Given the description of an element on the screen output the (x, y) to click on. 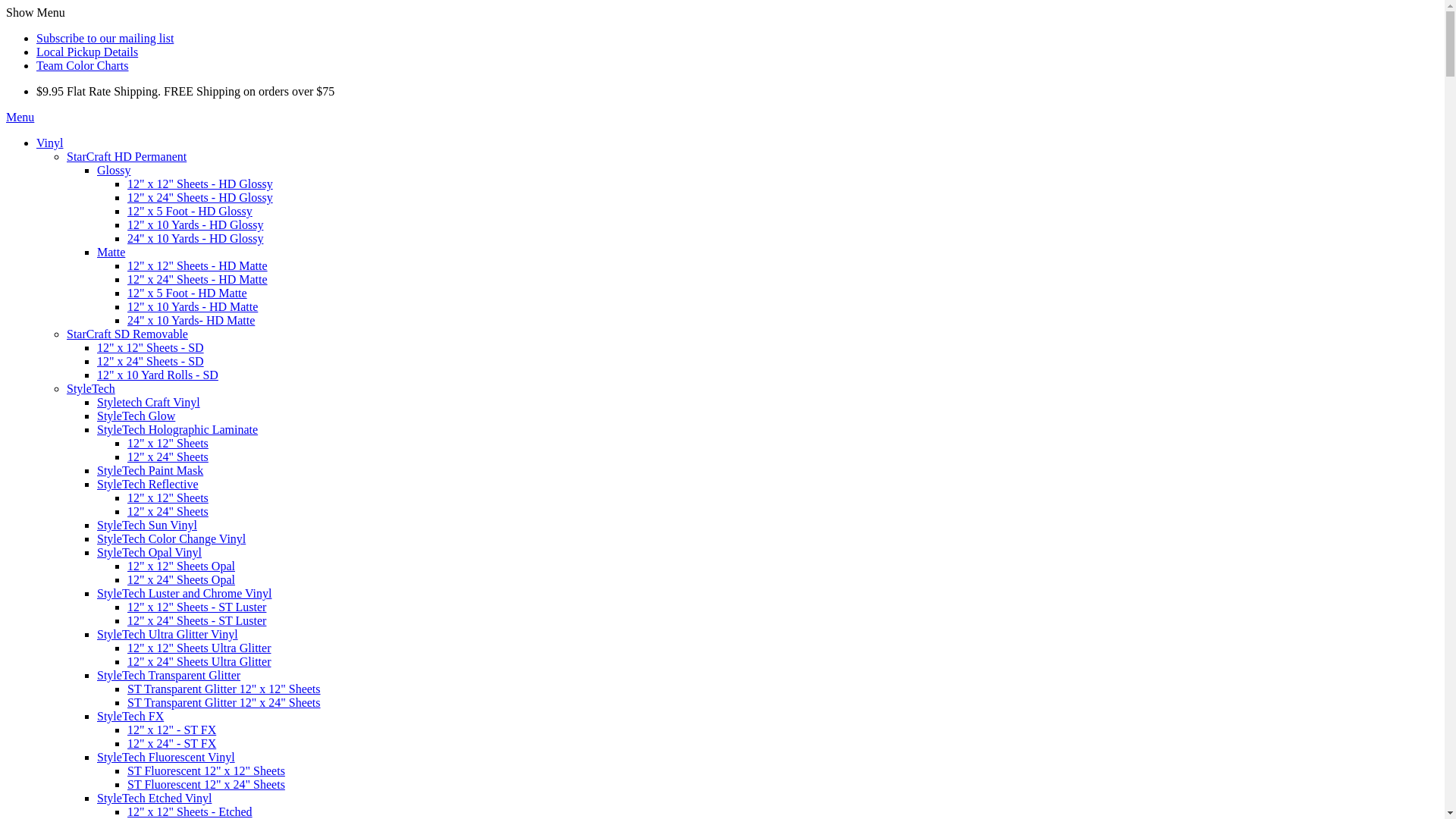
StyleTech Paint Mask Element type: text (150, 470)
12" x 24" - ST FX Element type: text (171, 743)
Local Pickup Details Element type: text (87, 51)
StyleTech Etched Vinyl Element type: text (154, 797)
Team Color Charts Element type: text (82, 65)
12" x 12" Sheets - ST Luster Element type: text (196, 606)
Glossy Element type: text (113, 169)
12" x 10 Yards - HD Glossy Element type: text (195, 224)
StyleTech Luster and Chrome Vinyl Element type: text (184, 592)
12" x 24" Sheets - HD Glossy Element type: text (200, 197)
12" x 12" Sheets Element type: text (167, 442)
StyleTech Element type: text (90, 388)
StyleTech Reflective Element type: text (147, 483)
12" x 12" Sheets - SD Element type: text (150, 347)
12" x 24" Sheets - ST Luster Element type: text (196, 620)
12" x 12" Sheets Ultra Glitter Element type: text (198, 647)
Menu Element type: text (20, 116)
Subscribe to our mailing list Element type: text (104, 37)
12" x 12" Sheets - HD Matte Element type: text (197, 265)
ST Transparent Glitter 12" x 24" Sheets Element type: text (223, 702)
StarCraft HD Permanent Element type: text (126, 156)
12" x 12" Sheets - HD Glossy Element type: text (200, 183)
12" x 12" Sheets Element type: text (167, 497)
Styletech Craft Vinyl Element type: text (148, 401)
12" x 12" Sheets - Etched Element type: text (189, 811)
12" x 24" Sheets Element type: text (167, 511)
12" x 24" Sheets Opal Element type: text (181, 579)
StyleTech Fluorescent Vinyl Element type: text (166, 756)
ST Fluorescent 12" x 12" Sheets Element type: text (206, 770)
StyleTech FX Element type: text (130, 715)
StyleTech Color Change Vinyl Element type: text (171, 538)
12" x 5 Foot - HD Glossy Element type: text (189, 210)
StyleTech Holographic Laminate Element type: text (177, 429)
12" x 10 Yard Rolls - SD Element type: text (157, 374)
12" x 24" Sheets Ultra Glitter Element type: text (198, 661)
ST Transparent Glitter 12" x 12" Sheets Element type: text (223, 688)
StarCraft SD Removable Element type: text (127, 333)
12" x 5 Foot - HD Matte Element type: text (187, 292)
StyleTech Ultra Glitter Vinyl Element type: text (167, 633)
StyleTech Opal Vinyl Element type: text (149, 552)
12" x 24" Sheets - SD Element type: text (150, 360)
12" x 12" - ST FX Element type: text (171, 729)
Vinyl Element type: text (49, 142)
ST Fluorescent 12" x 24" Sheets Element type: text (206, 784)
24" x 10 Yards - HD Glossy Element type: text (195, 238)
StyleTech Glow Element type: text (136, 415)
StyleTech Sun Vinyl Element type: text (147, 524)
12" x 12" Sheets Opal Element type: text (181, 565)
Matte Element type: text (111, 251)
12" x 24" Sheets - HD Matte Element type: text (197, 279)
StyleTech Transparent Glitter Element type: text (168, 674)
12" x 10 Yards - HD Matte Element type: text (192, 306)
24" x 10 Yards- HD Matte Element type: text (190, 319)
12" x 24" Sheets Element type: text (167, 456)
